Given the description of an element on the screen output the (x, y) to click on. 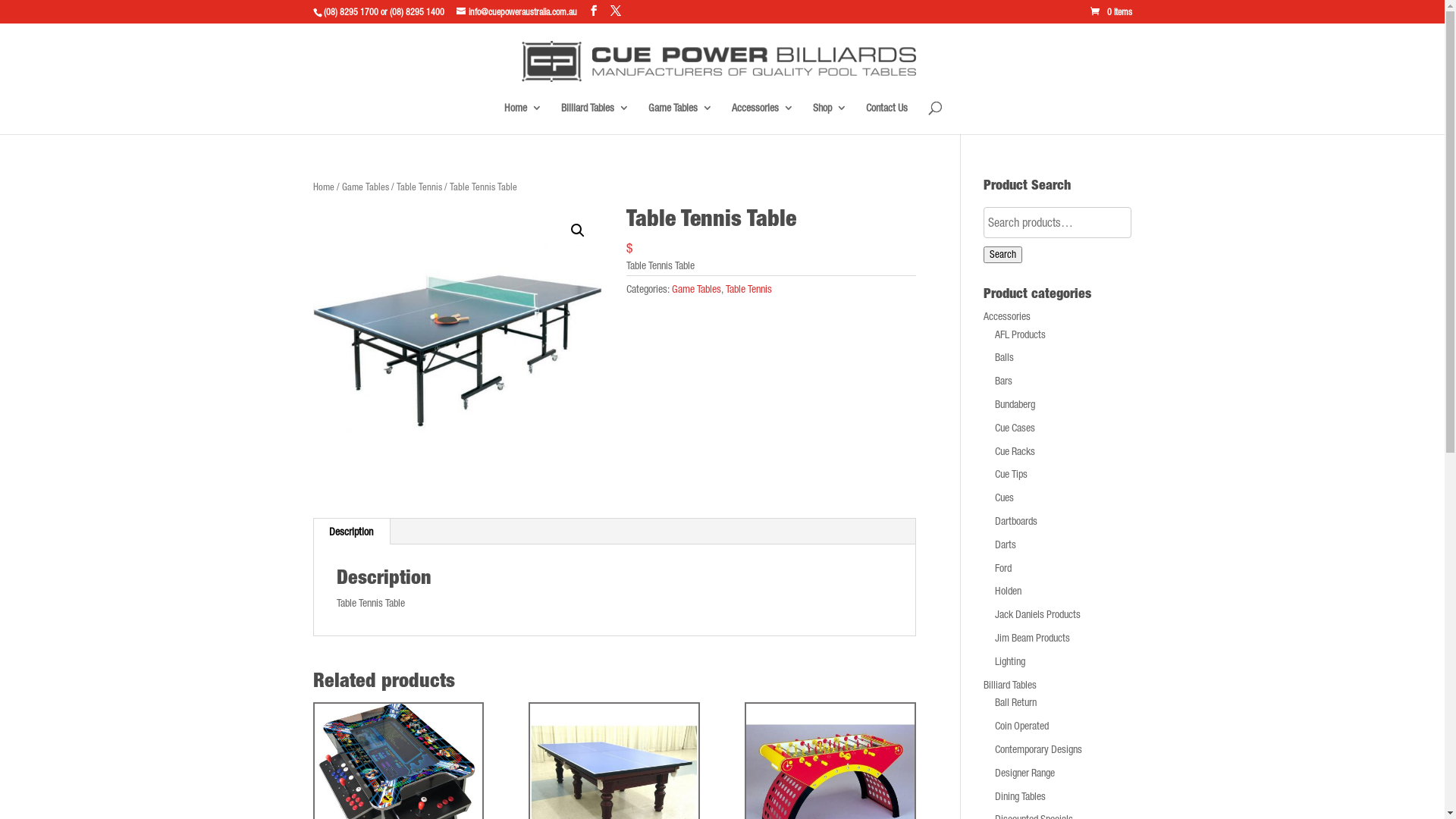
Table Tennis Element type: text (748, 288)
Accessories Element type: text (762, 118)
Search Element type: text (1002, 254)
Home Element type: text (523, 118)
Home Element type: text (322, 186)
AFL Products Element type: text (1019, 334)
Game Tables Element type: text (364, 186)
(08) 8295 1700 Element type: text (350, 11)
Table Tennis Element type: text (418, 186)
table-tennis-table Element type: hover (457, 350)
Shop Element type: text (829, 118)
Coin Operated Element type: text (1021, 725)
Billiard Tables Element type: text (595, 118)
Bars Element type: text (1003, 380)
Game Tables Element type: text (680, 118)
Cue Racks Element type: text (1014, 451)
Description Element type: text (350, 531)
Designer Range Element type: text (1024, 772)
Bundaberg Element type: text (1014, 404)
Accessories Element type: text (1006, 316)
Dartboards Element type: text (1015, 520)
Contemporary Designs Element type: text (1038, 749)
Lighting Element type: text (1009, 661)
Billiard Tables Element type: text (1009, 684)
Balls Element type: text (1003, 357)
Game Tables Element type: text (696, 288)
0 Items Element type: text (1111, 11)
Holden Element type: text (1007, 590)
Jim Beam Products Element type: text (1032, 637)
Dining Tables Element type: text (1019, 796)
Cues Element type: text (1003, 497)
or (08) 8295 1400 Element type: text (410, 11)
info@cuepoweraustralia.com.au Element type: text (516, 11)
Jack Daniels Products Element type: text (1037, 614)
Cue Tips Element type: text (1010, 473)
Darts Element type: text (1005, 544)
Cue Cases Element type: text (1014, 427)
Contact Us Element type: text (886, 118)
Ball Return Element type: text (1015, 702)
Ford Element type: text (1002, 567)
